Given the description of an element on the screen output the (x, y) to click on. 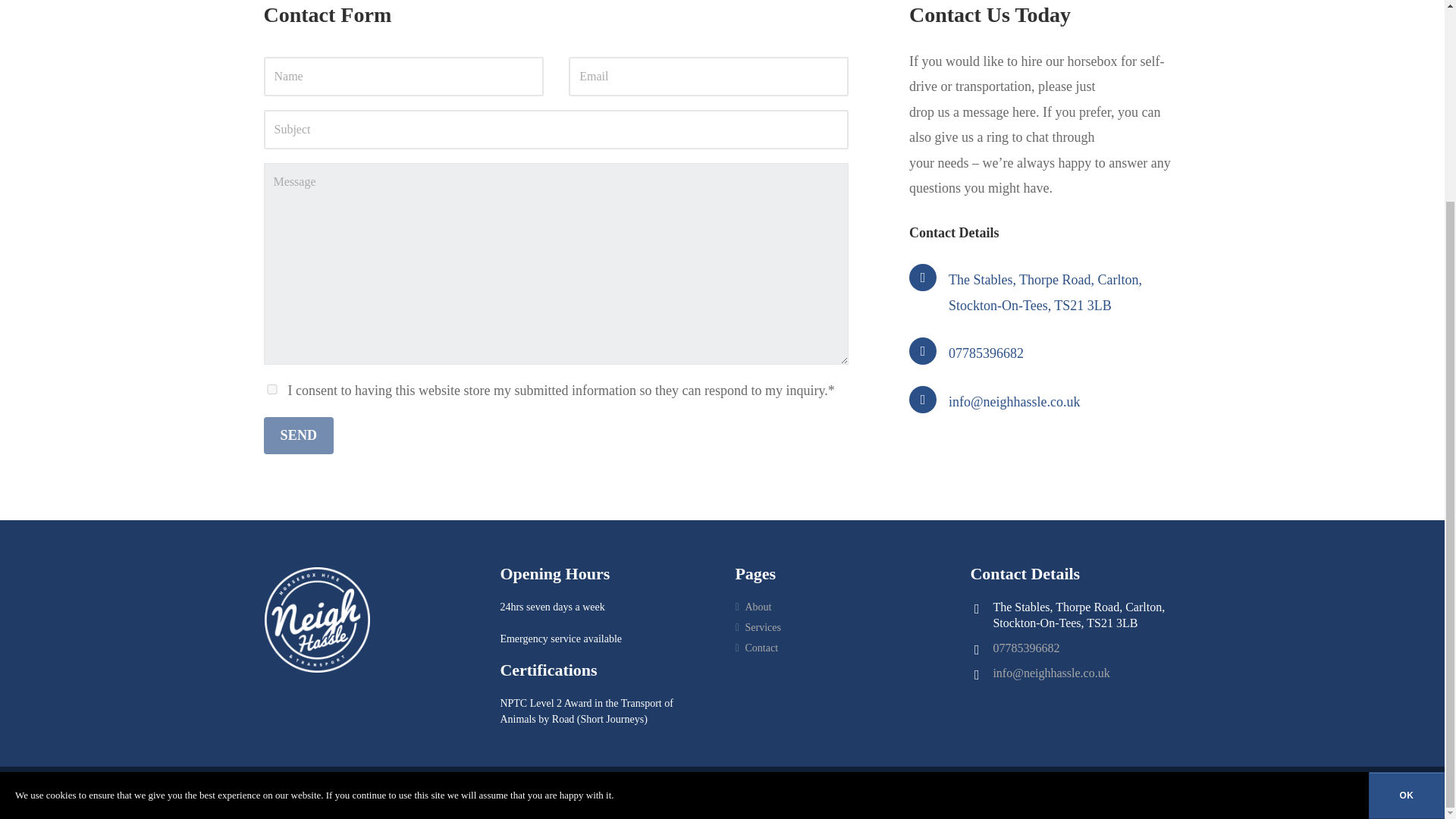
07785396682 (1025, 647)
SEND (298, 435)
on (272, 388)
About (757, 606)
07785396682 (986, 353)
Contact (760, 645)
View Map (1045, 291)
Go Limitless (630, 790)
Terms and Conditions (520, 790)
Services (762, 624)
Privacy Policy (441, 790)
